Given the description of an element on the screen output the (x, y) to click on. 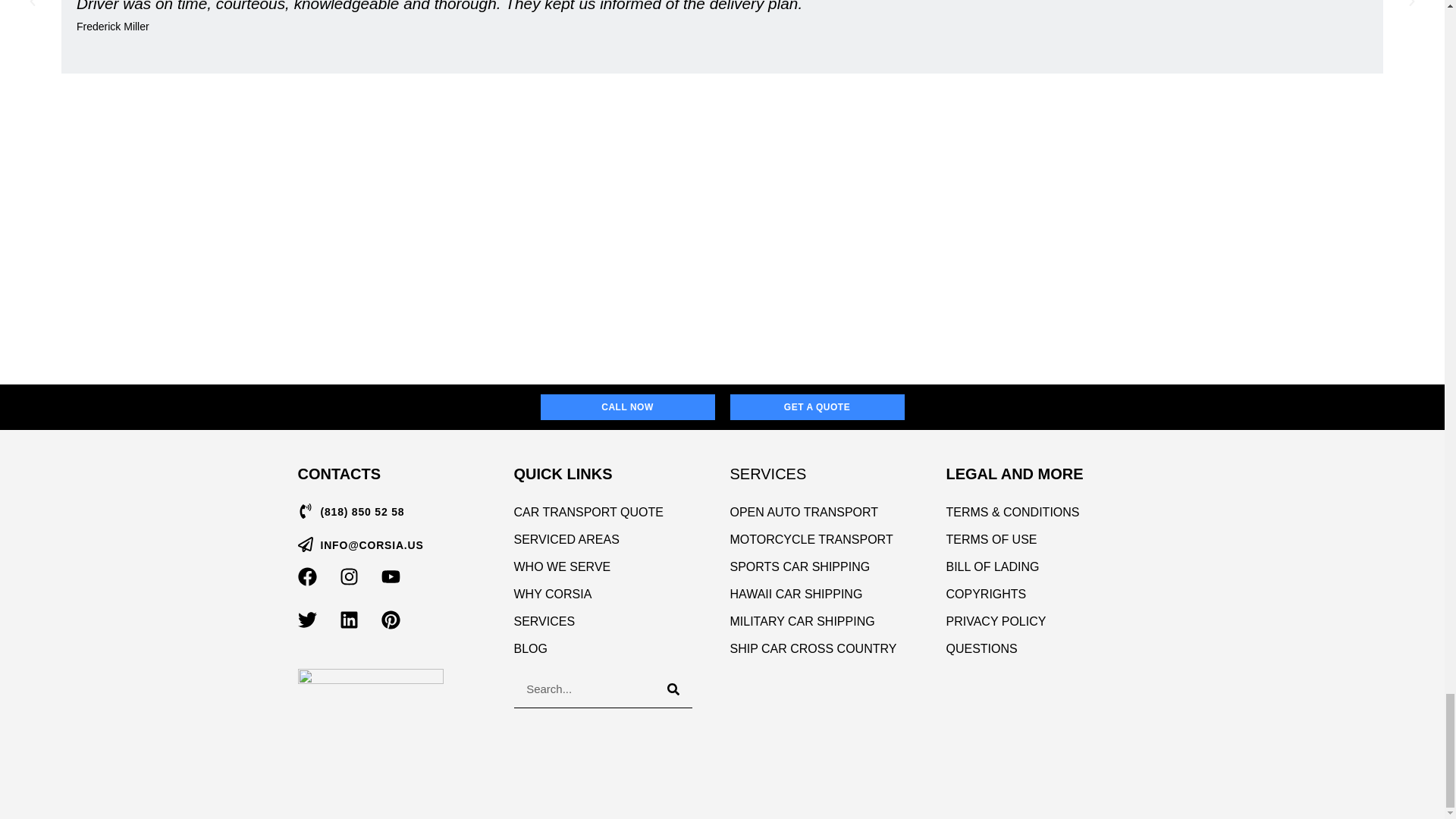
Search (672, 688)
Search (583, 688)
